Given the description of an element on the screen output the (x, y) to click on. 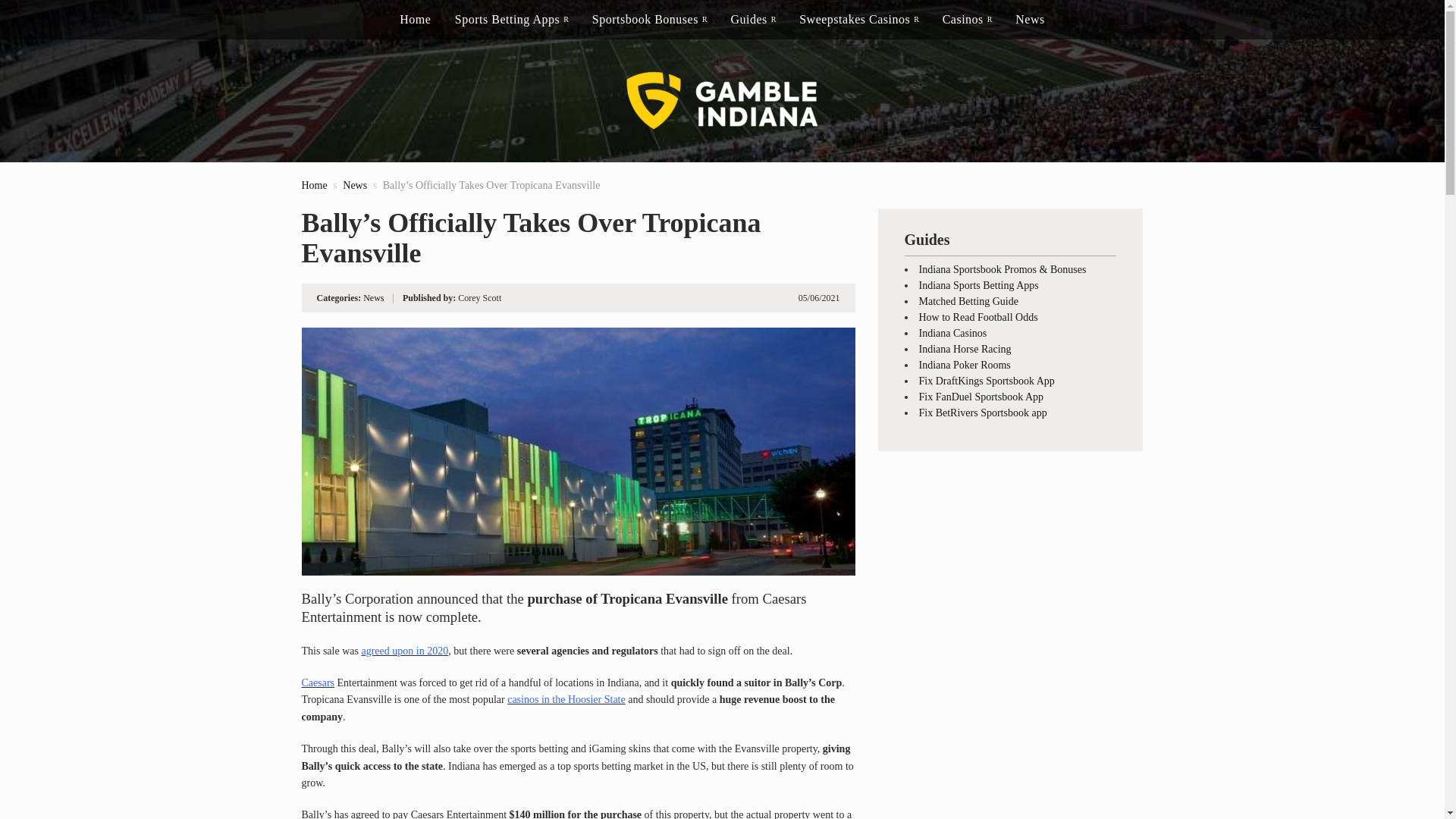
Home (314, 184)
Sportsbook Bonuses (649, 19)
Sports Betting Apps (510, 19)
Guides (752, 19)
News (354, 184)
